Given the description of an element on the screen output the (x, y) to click on. 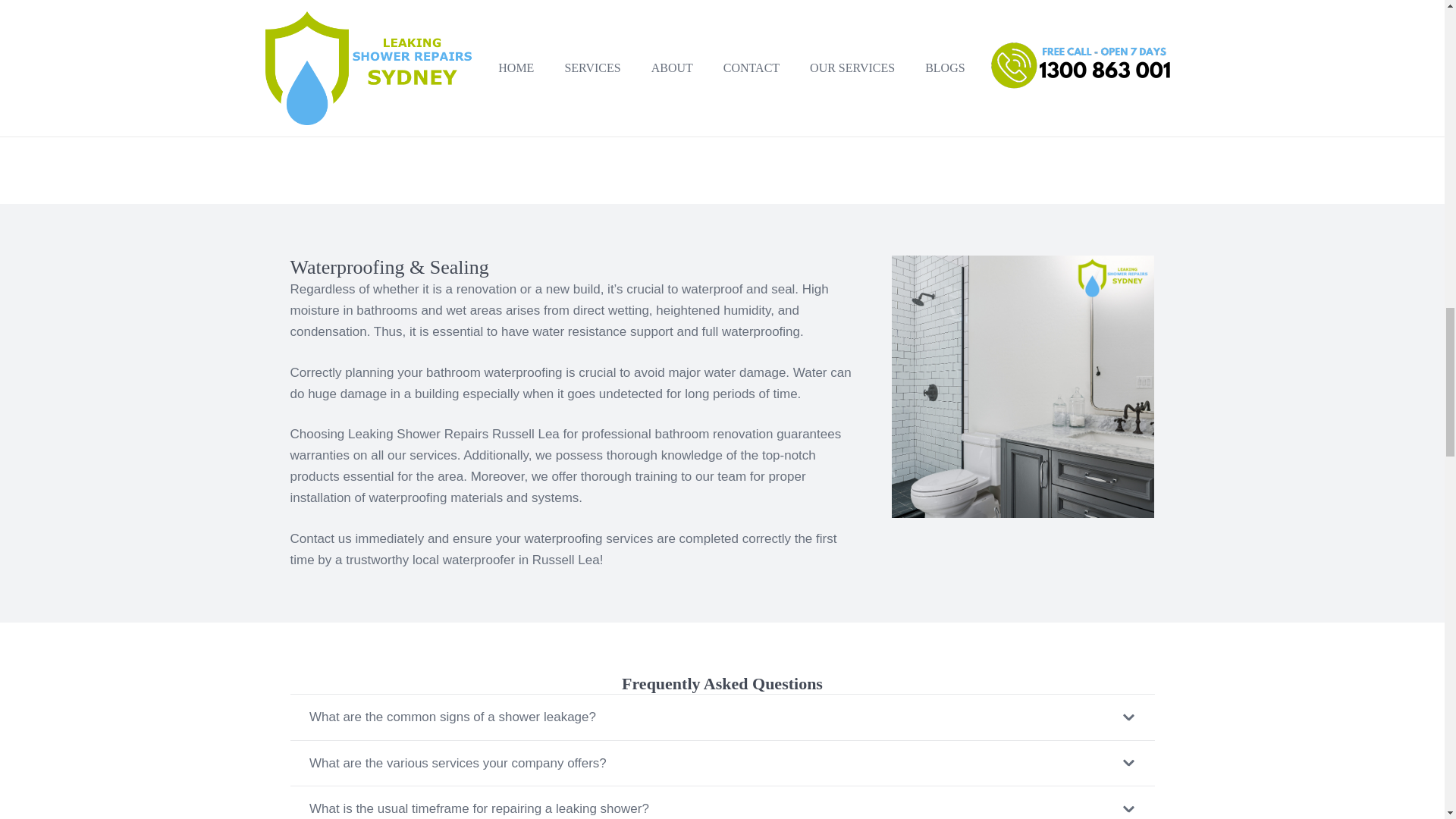
What is the usual timeframe for repairing a leaking shower? (721, 802)
What are the common signs of a shower leakage? (721, 717)
What are the various services your company offers? (721, 763)
